Given the description of an element on the screen output the (x, y) to click on. 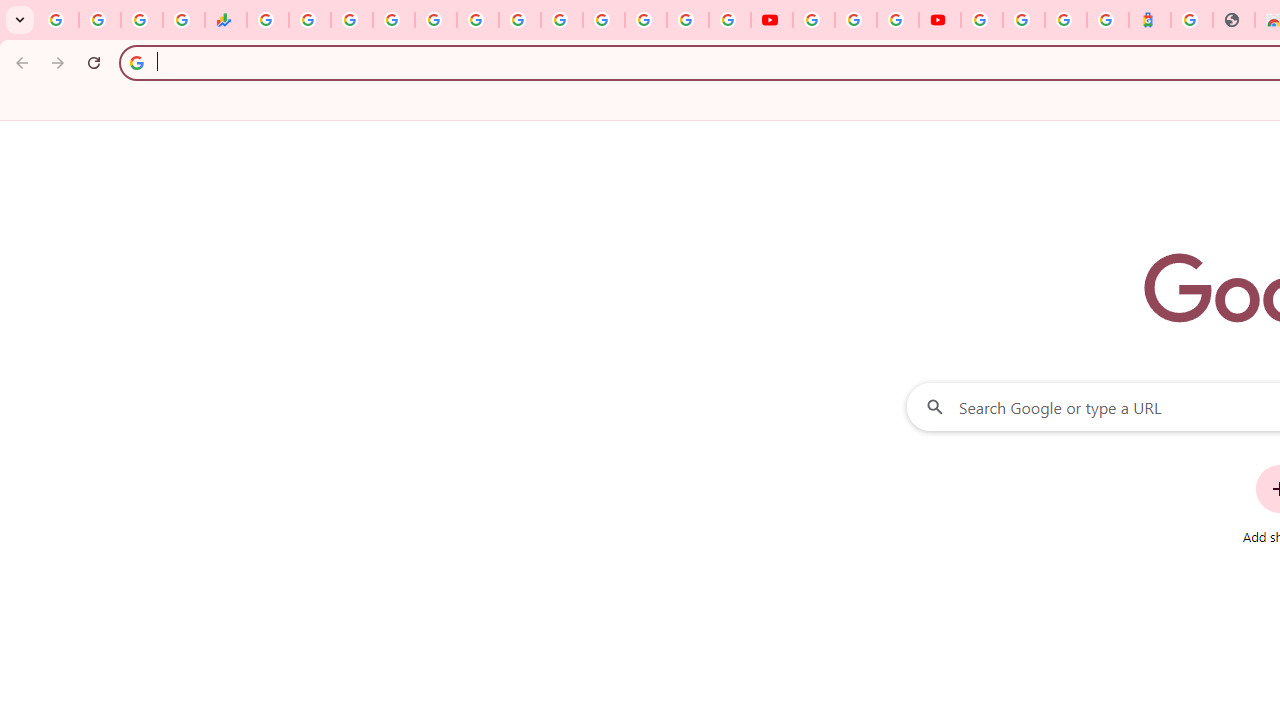
YouTube (813, 20)
YouTube (772, 20)
Sign in - Google Accounts (603, 20)
Create your Google Account (897, 20)
Google Account Help (855, 20)
Sign in - Google Accounts (982, 20)
Android TV Policies and Guidelines - Transparency Center (520, 20)
